Given the description of an element on the screen output the (x, y) to click on. 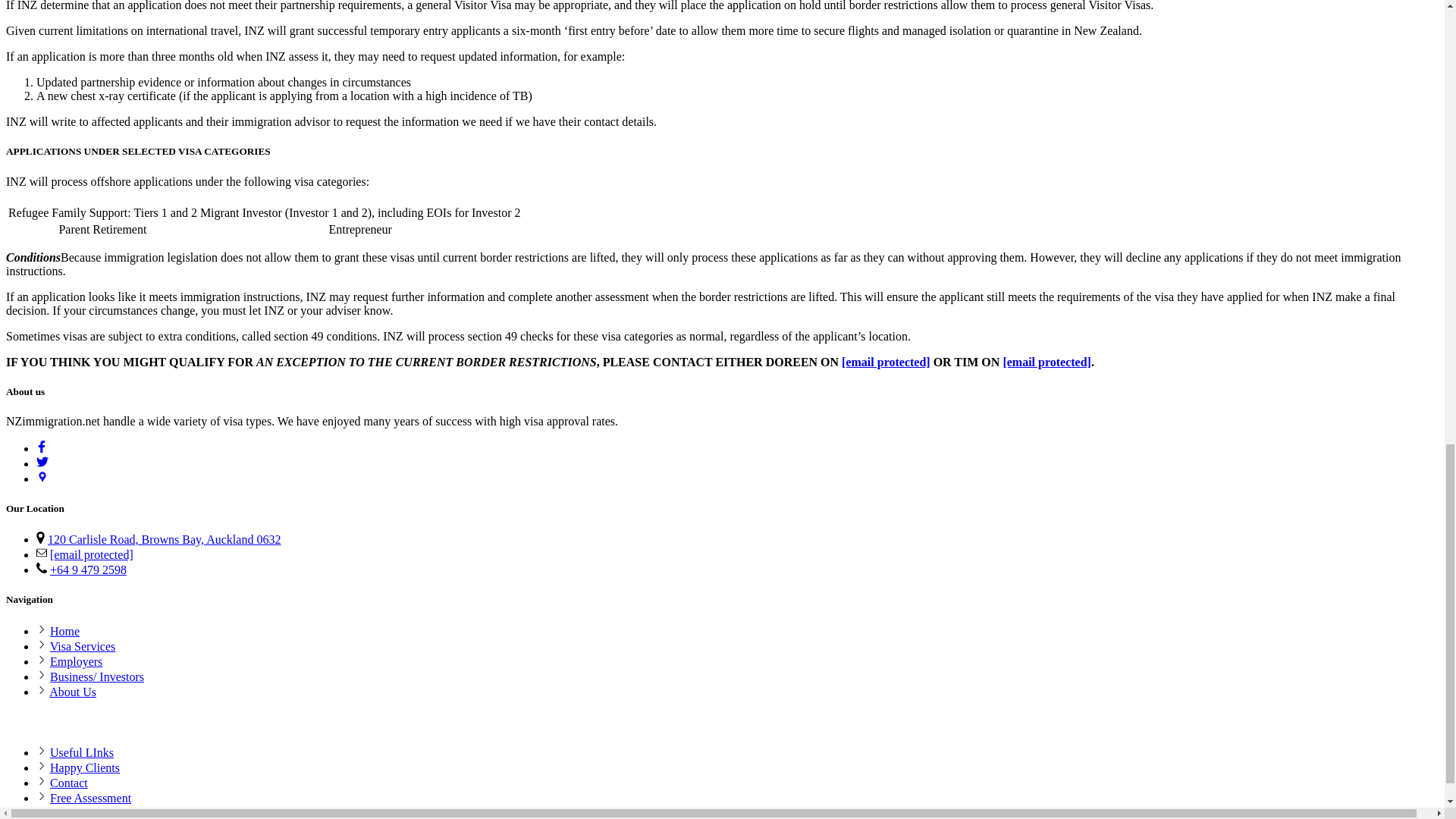
Home (64, 631)
Free Assessment (90, 797)
Happy Clients (84, 767)
Visa Services (82, 645)
Contact (68, 782)
Useful LInks (81, 752)
Employers (75, 661)
120 Carlisle Road, Browns Bay, Auckland 0632 (164, 539)
About Us (72, 691)
